Given the description of an element on the screen output the (x, y) to click on. 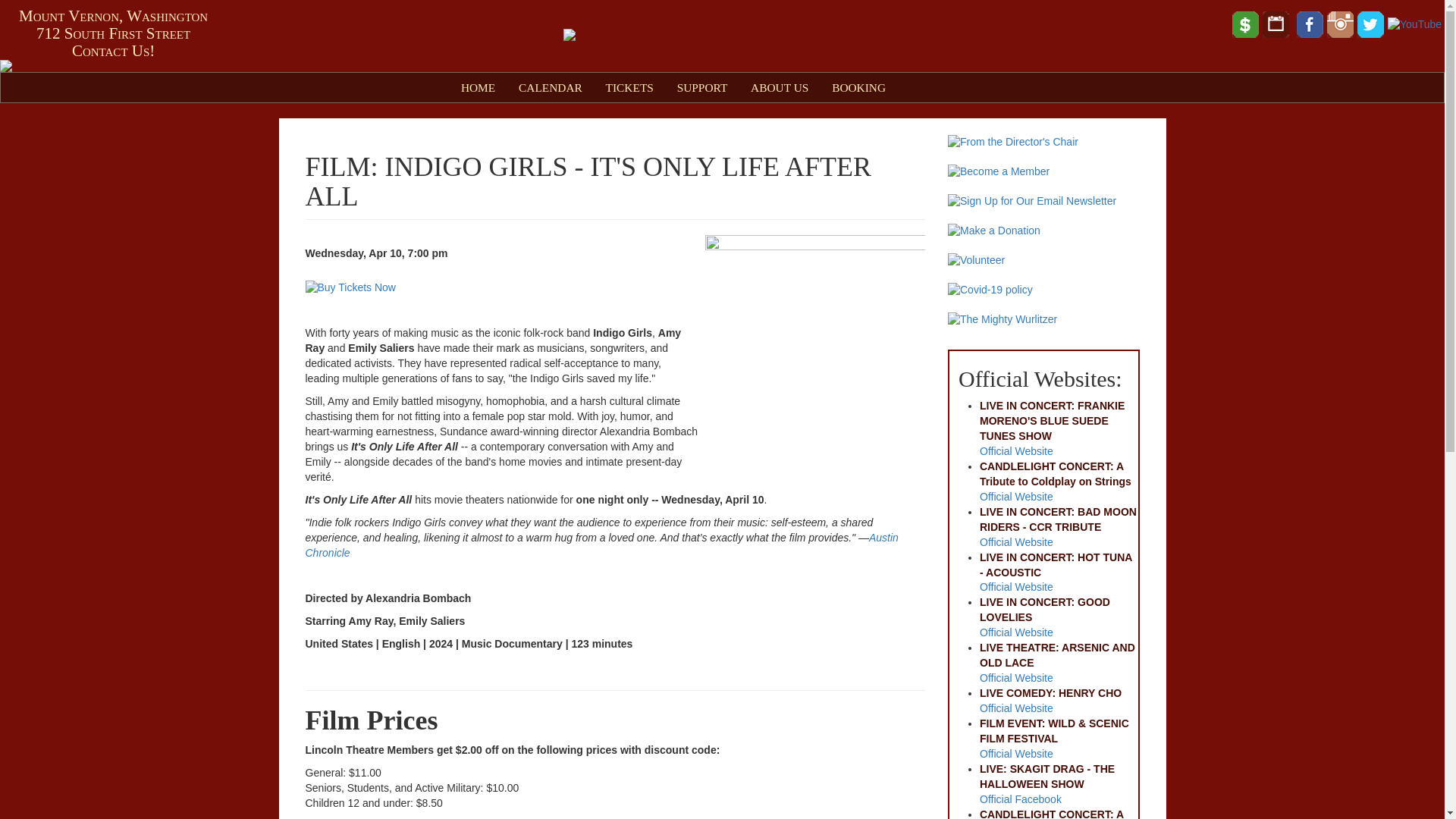
SUPPORT (701, 87)
Mount Vernon, Washington (113, 15)
712 South First Street (113, 33)
CALENDAR (550, 87)
From the Director's Chair (1043, 142)
Contact Us! (112, 50)
ABOUT US (780, 87)
HOME (477, 87)
TICKETS (629, 87)
